Given the description of an element on the screen output the (x, y) to click on. 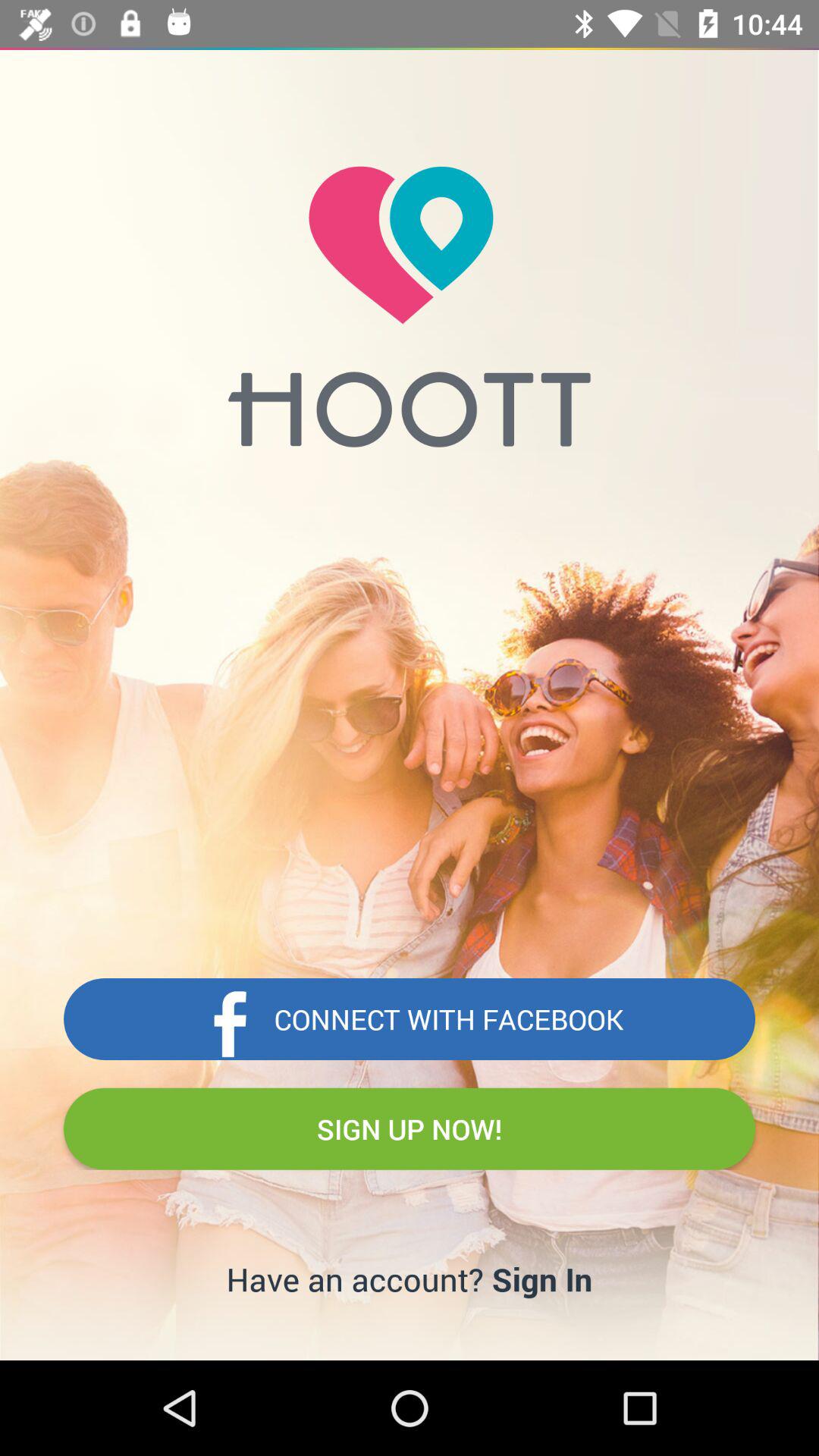
scroll until sign in icon (541, 1278)
